Given the description of an element on the screen output the (x, y) to click on. 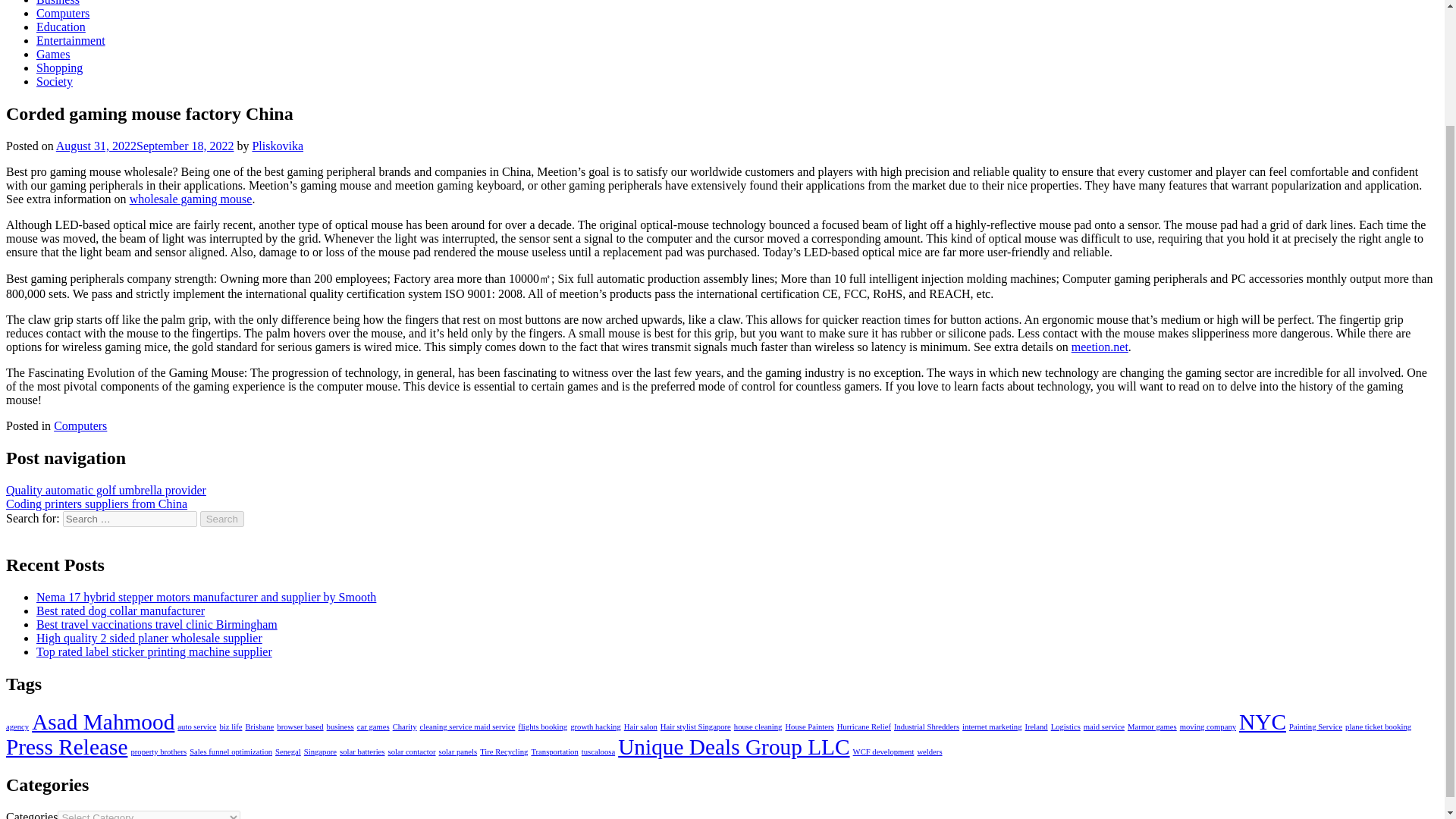
auto service (196, 726)
wholesale gaming mouse (190, 198)
agency (17, 726)
growth hacking (595, 726)
Society (54, 81)
flights booking (542, 726)
Computers (62, 12)
meetion.net (1099, 346)
Hair salon (641, 726)
business (339, 726)
High quality 2 sided planer wholesale supplier (149, 637)
Hair stylist Singapore (695, 726)
House Painters (808, 726)
Search (222, 519)
